Given the description of an element on the screen output the (x, y) to click on. 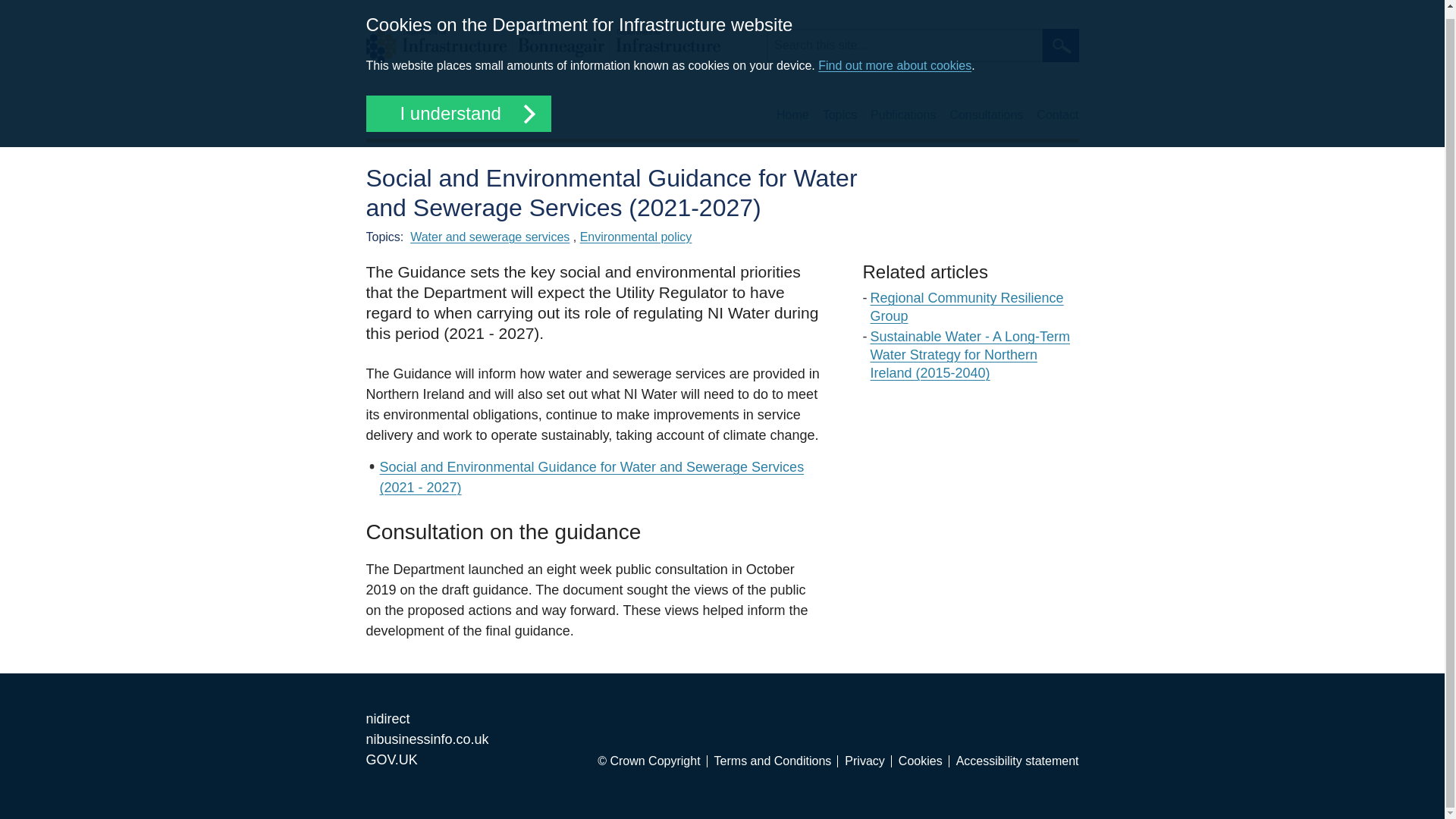
Search (1060, 45)
GOV.UK (390, 759)
Terms and Conditions (776, 761)
Privacy (867, 761)
Water and sewerage services (489, 236)
nibusinessinfo.co.uk (426, 739)
Consultations (986, 115)
I understand (457, 113)
Enter the terms you wish to search for (904, 45)
Home (792, 115)
Regional Community Resilience Group (967, 306)
Environmental policy (636, 236)
Contact (1057, 115)
Home (542, 45)
Find out more about cookies (894, 65)
